Given the description of an element on the screen output the (x, y) to click on. 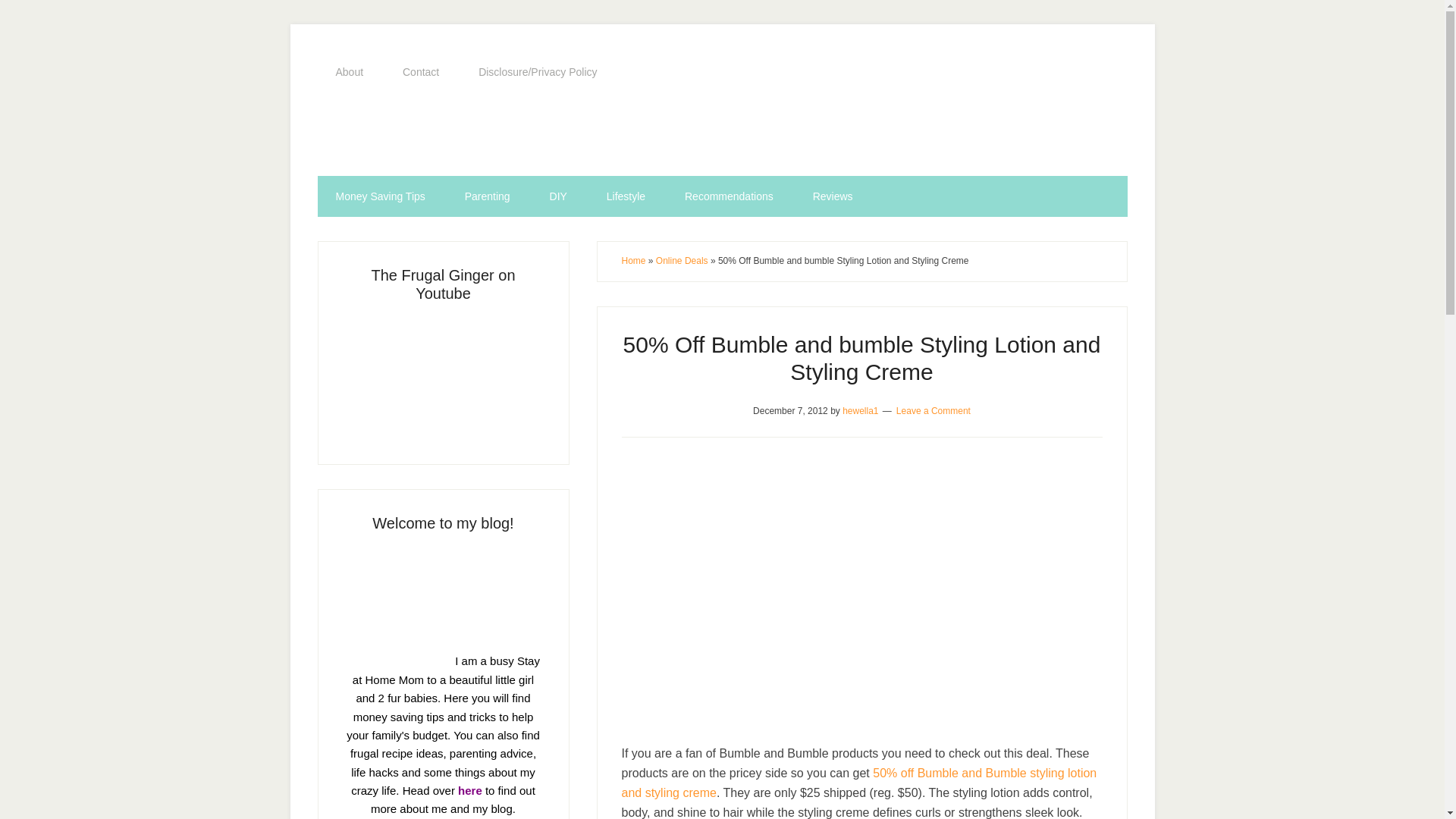
Leave a Comment (933, 409)
The Frugal Ginger (721, 134)
Reviews (832, 196)
Recommendations (729, 196)
Home (633, 260)
bumble and bumble (861, 592)
Lifestyle (625, 196)
Parenting (487, 196)
Money Saving Tips (379, 196)
hewella1 (860, 409)
